Given the description of an element on the screen output the (x, y) to click on. 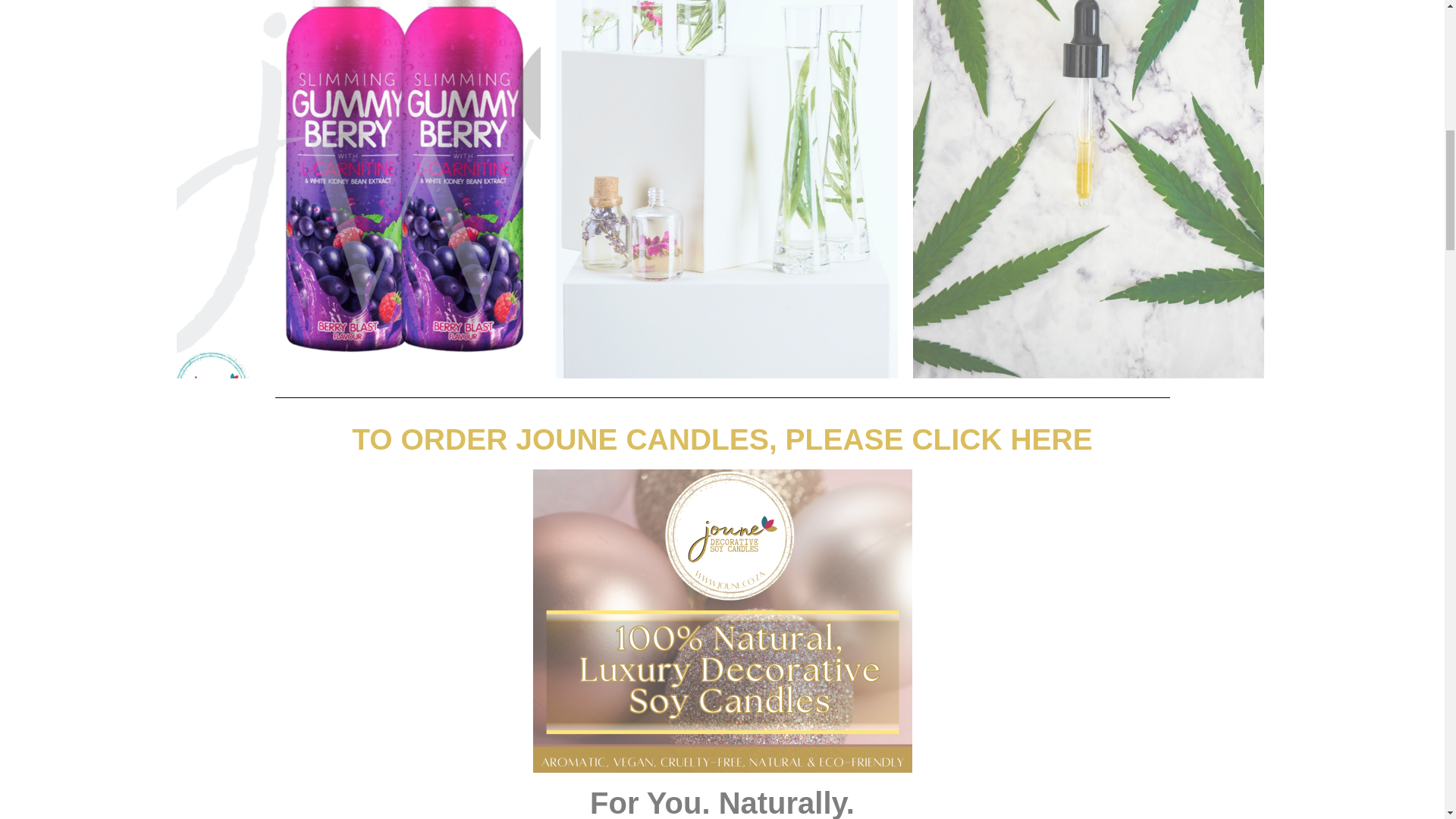
JOUNE CANDLES (721, 621)
TO ORDER JOUNE CANDLES, PLEASE CLICK HERE (722, 439)
